Given the description of an element on the screen output the (x, y) to click on. 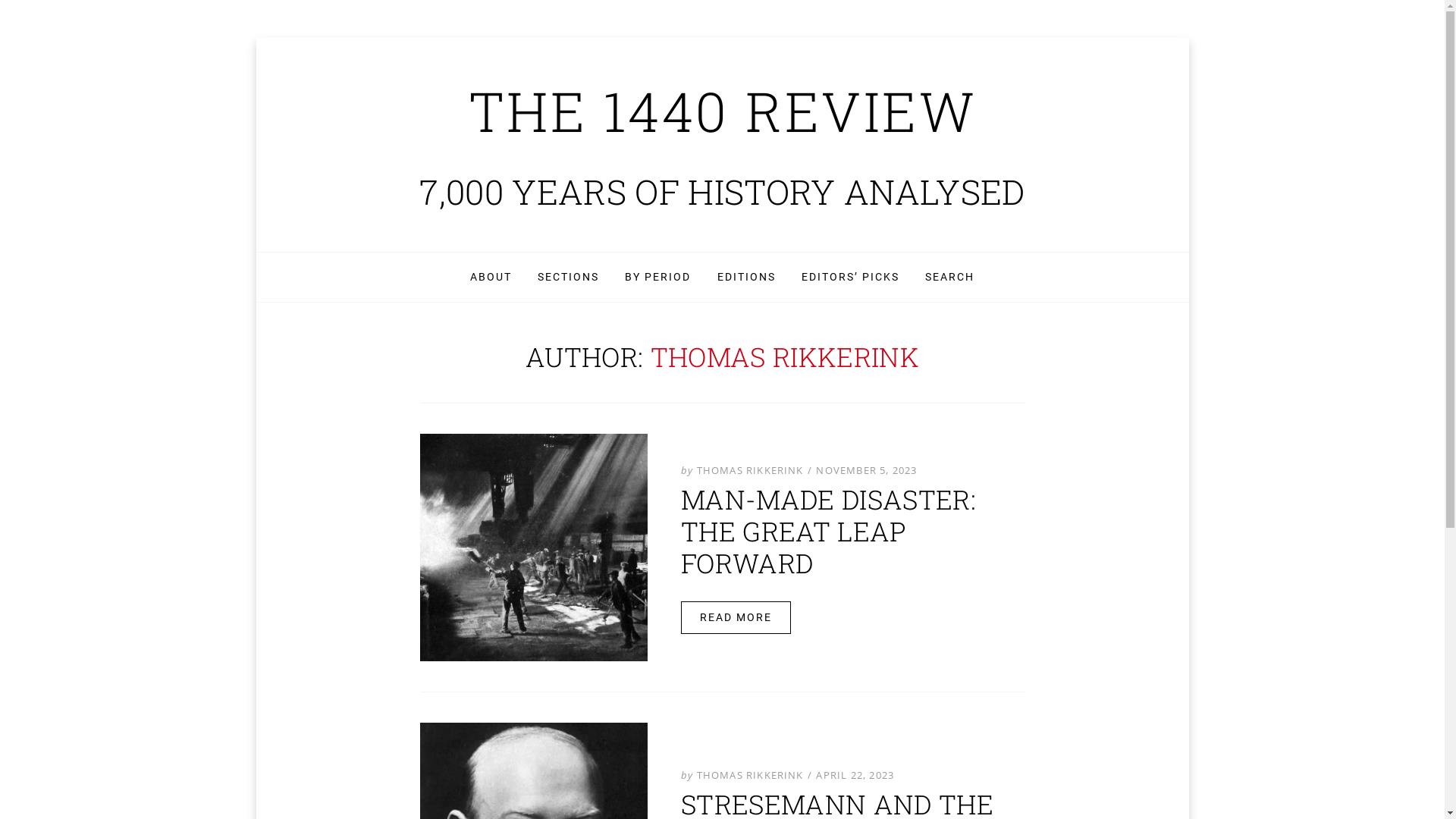
MAN-MADE DISASTER: THE GREAT LEAP FORWARD Element type: text (827, 530)
NOVEMBER 5, 2023 Element type: text (864, 469)
ABOUT Element type: text (490, 276)
SKIP TO CONTENT Element type: text (289, 251)
EDITIONS Element type: text (746, 276)
THE 1440 REVIEW Element type: text (722, 111)
BY PERIOD Element type: text (657, 276)
APRIL 22, 2023 Element type: text (853, 774)
SEARCH Element type: text (949, 276)
READ MORE Element type: text (735, 617)
THOMAS RIKKERINK Element type: text (749, 774)
THOMAS RIKKERINK Element type: text (749, 469)
SECTIONS Element type: text (568, 276)
